Given the description of an element on the screen output the (x, y) to click on. 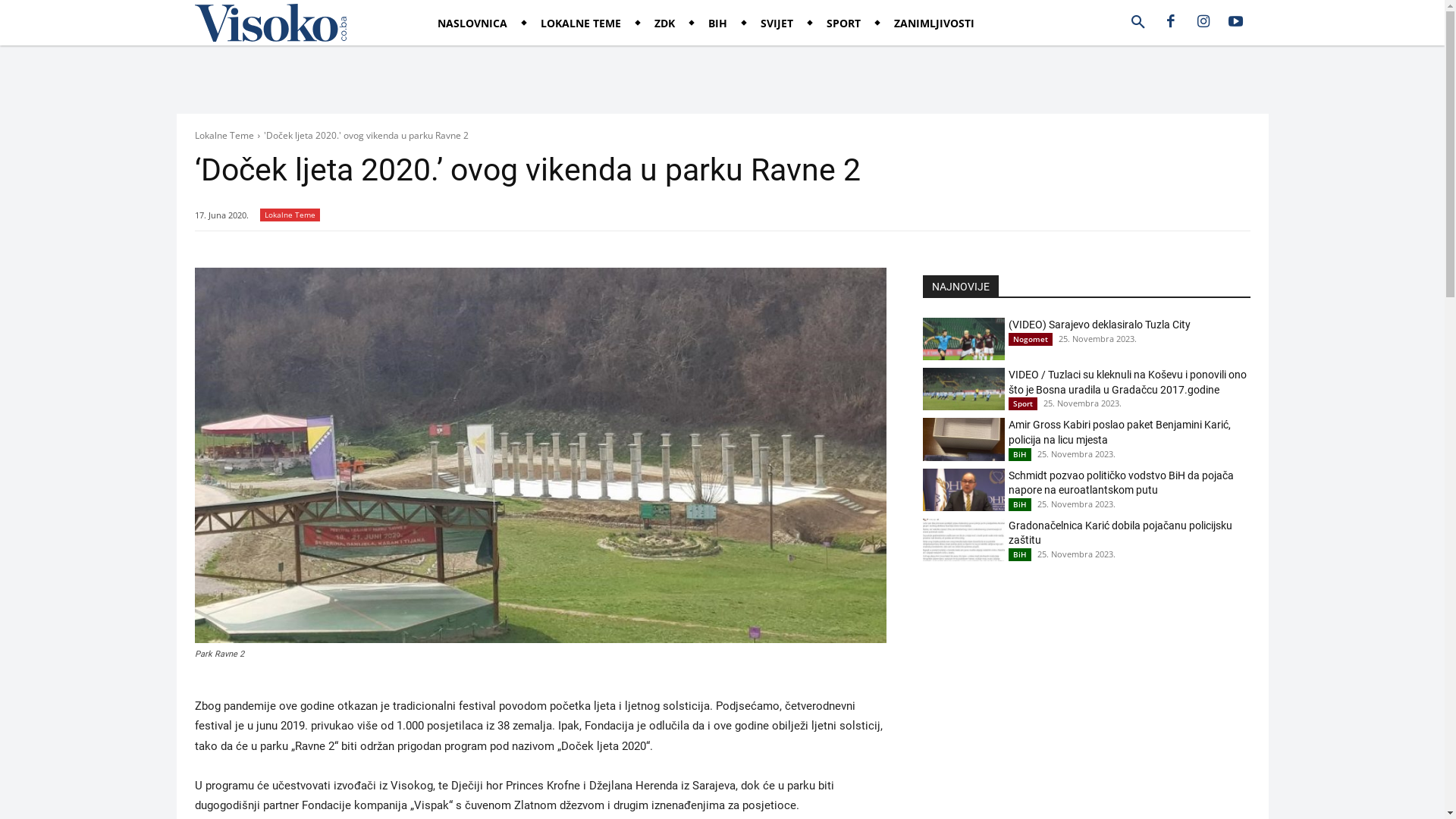
Sport Element type: text (1022, 403)
NASLOVNICA Element type: text (472, 23)
(VIDEO) Sarajevo deklasiralo Tuzla City Element type: hover (963, 338)
SVIJET Element type: text (776, 23)
(VIDEO) Sarajevo deklasiralo Tuzla City Element type: text (1099, 324)
SPORT Element type: text (843, 23)
BiH Element type: text (1019, 554)
Nogomet Element type: text (1030, 338)
Facebook Element type: hover (1169, 22)
park_ravne2 Element type: hover (539, 455)
BIH Element type: text (717, 23)
Lokalne Teme Element type: text (289, 214)
ZANIMLJIVOSTI Element type: text (933, 23)
BiH Element type: text (1019, 504)
Youtube Element type: hover (1234, 22)
LOKALNE TEME Element type: text (580, 23)
ZDK Element type: text (664, 23)
BiH Element type: text (1019, 454)
Instagram Element type: hover (1203, 22)
Lokalne Teme Element type: text (223, 134)
